Given the description of an element on the screen output the (x, y) to click on. 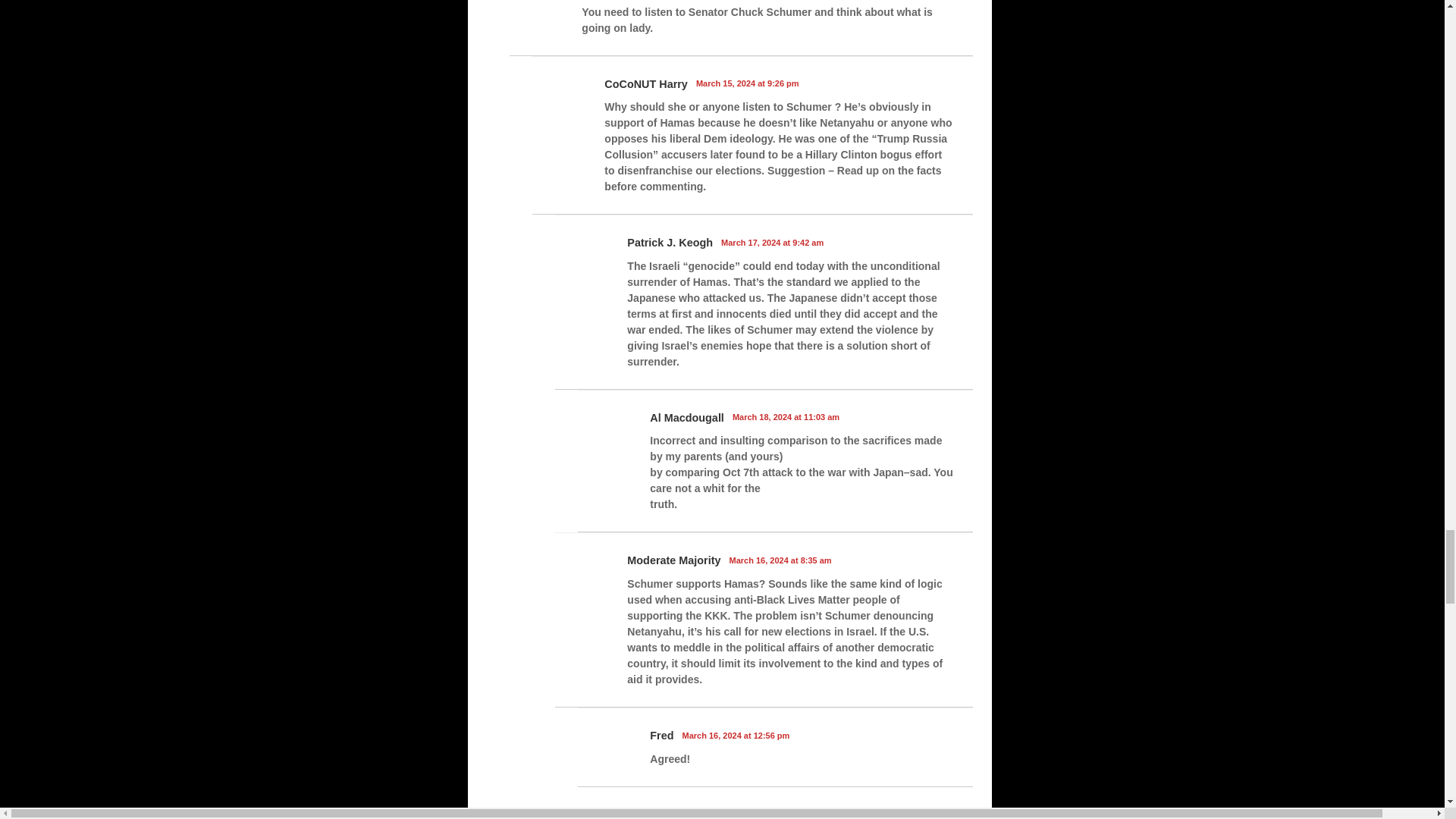
March 17, 2024 at 9:42 am (772, 242)
March 15, 2024 at 9:26 pm (747, 82)
March 18, 2024 at 11:03 am (786, 416)
March 15, 2024 at 9:57 am (690, 813)
March 16, 2024 at 12:56 pm (736, 735)
March 16, 2024 at 8:35 am (780, 560)
